Given the description of an element on the screen output the (x, y) to click on. 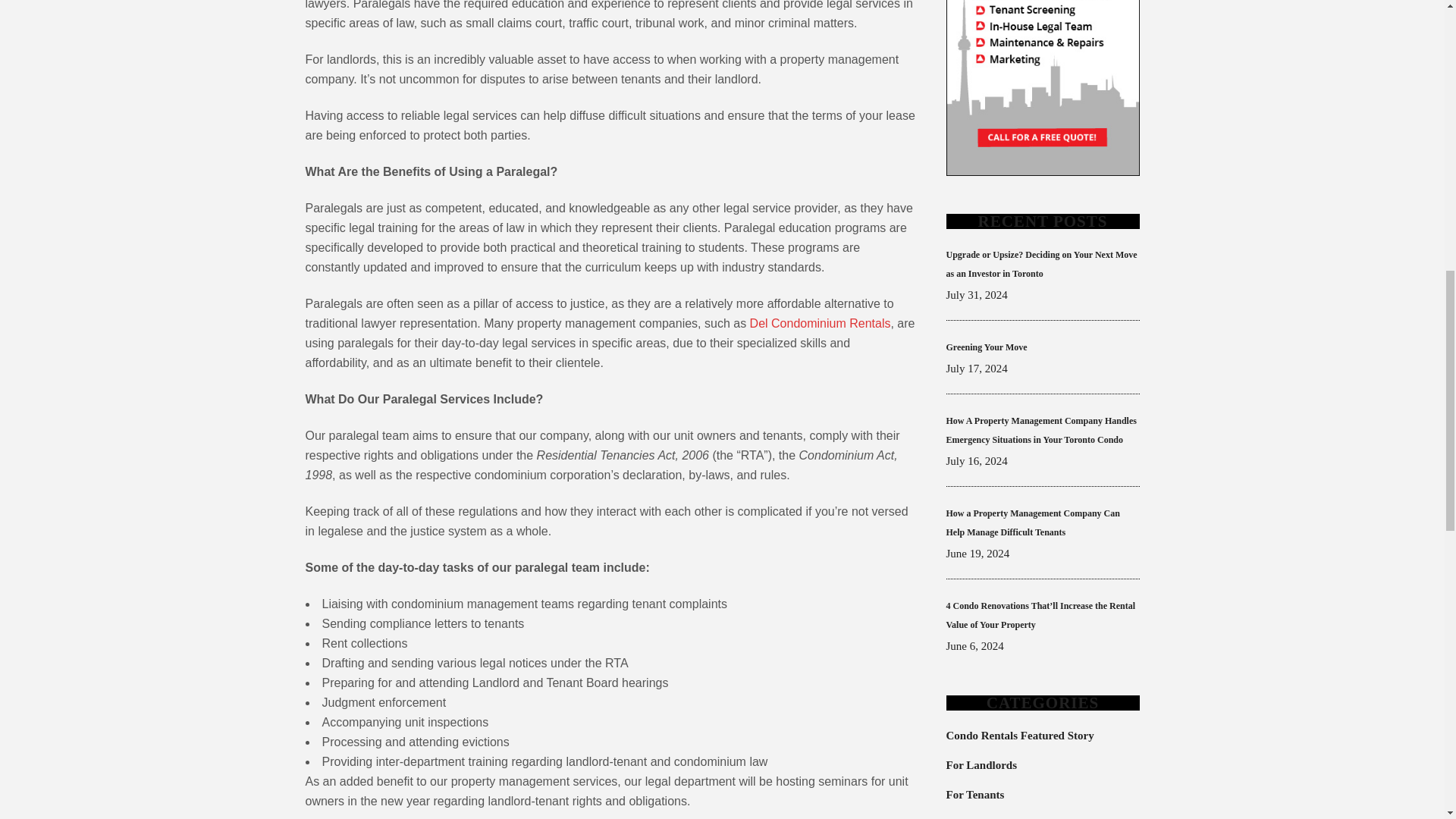
Del Condominium Rentals (820, 323)
